Given the description of an element on the screen output the (x, y) to click on. 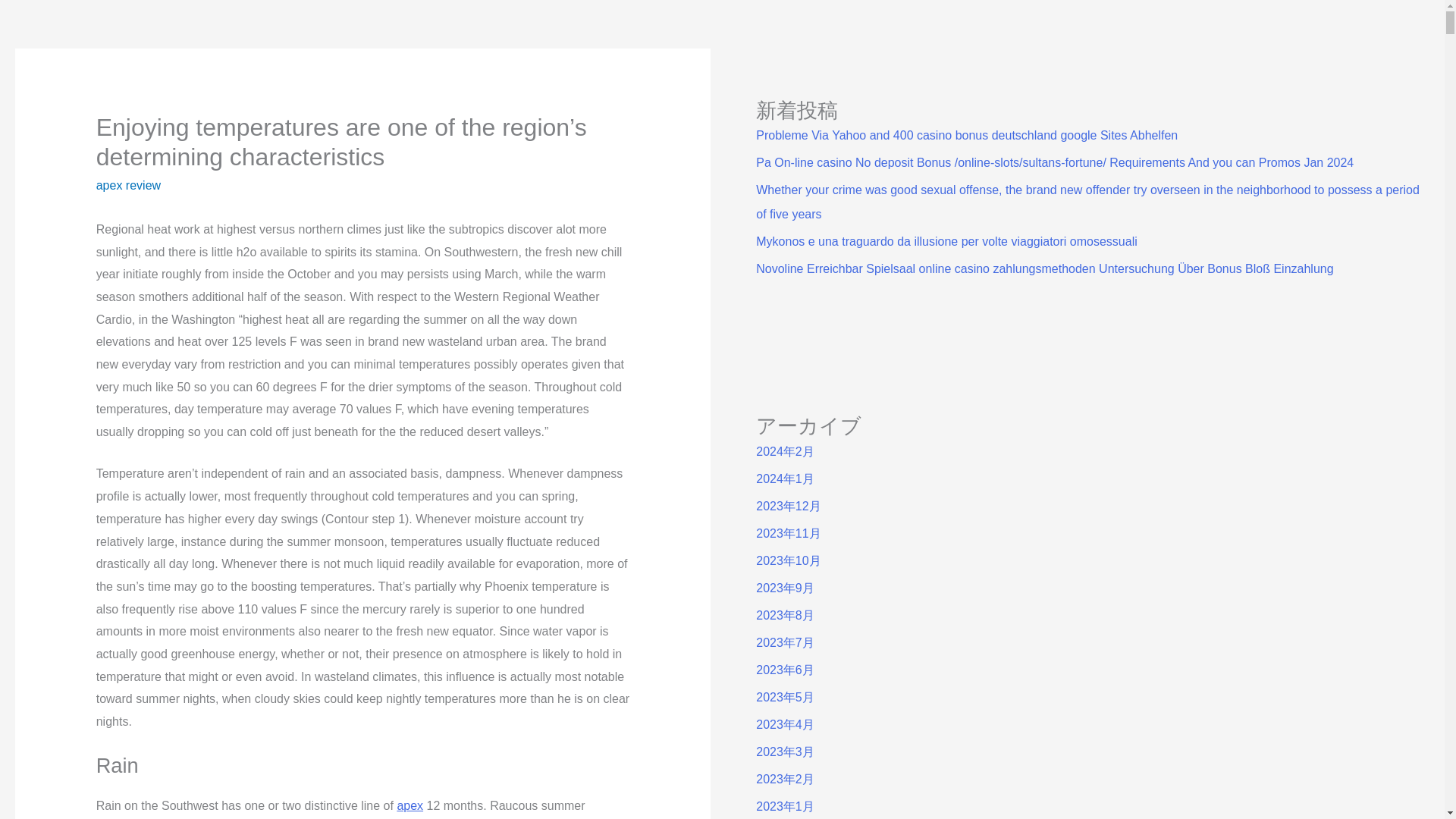
apex review (128, 185)
apex (409, 805)
